Given the description of an element on the screen output the (x, y) to click on. 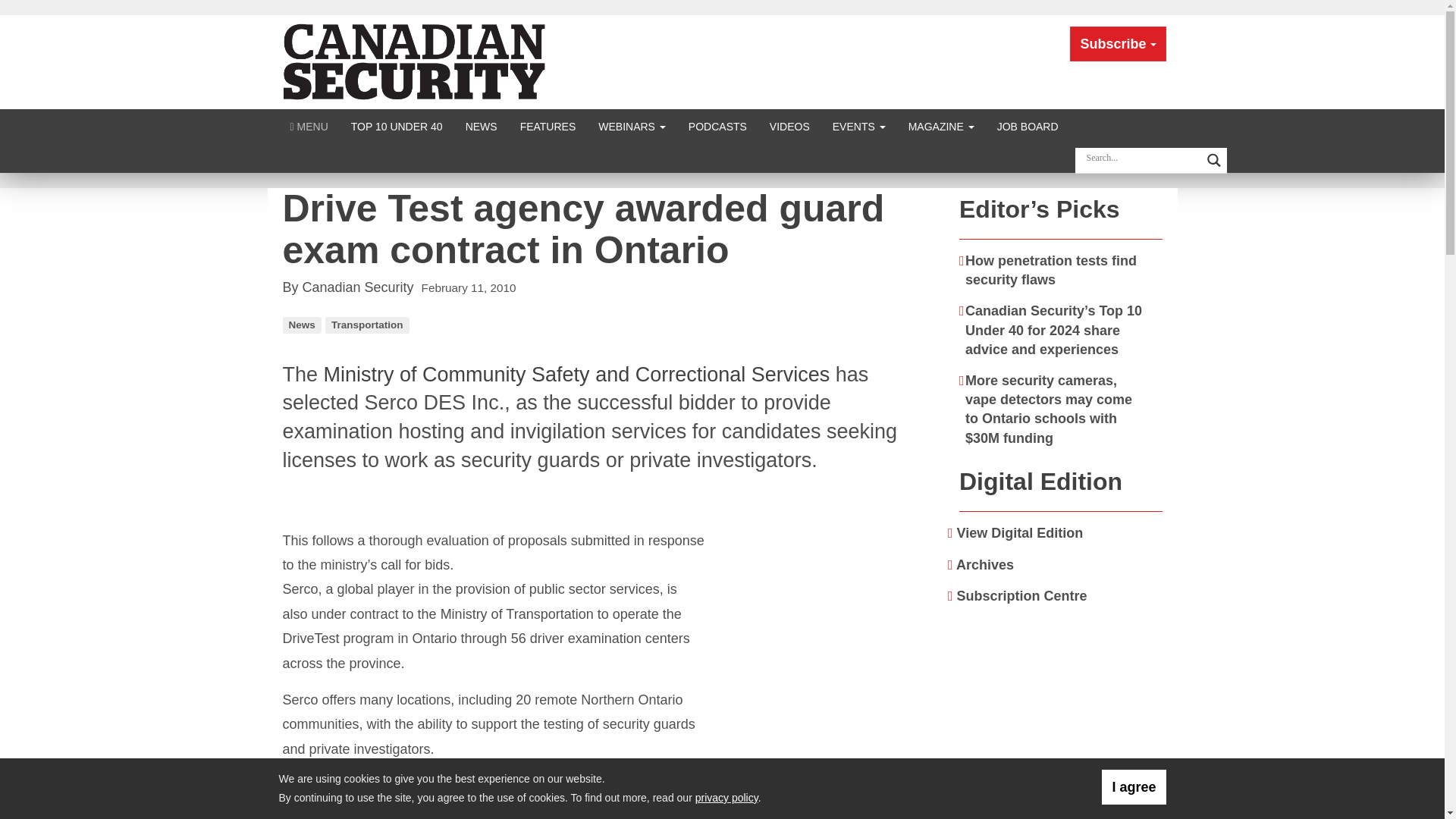
JOB BOARD (1027, 125)
Click to show site navigation (309, 125)
FEATURES (548, 125)
VIDEOS (789, 125)
TOP 10 UNDER 40 (396, 125)
WEBINARS (631, 125)
PODCASTS (717, 125)
MENU (309, 125)
Canadian Security Magazine (415, 61)
EVENTS (858, 125)
